Given the description of an element on the screen output the (x, y) to click on. 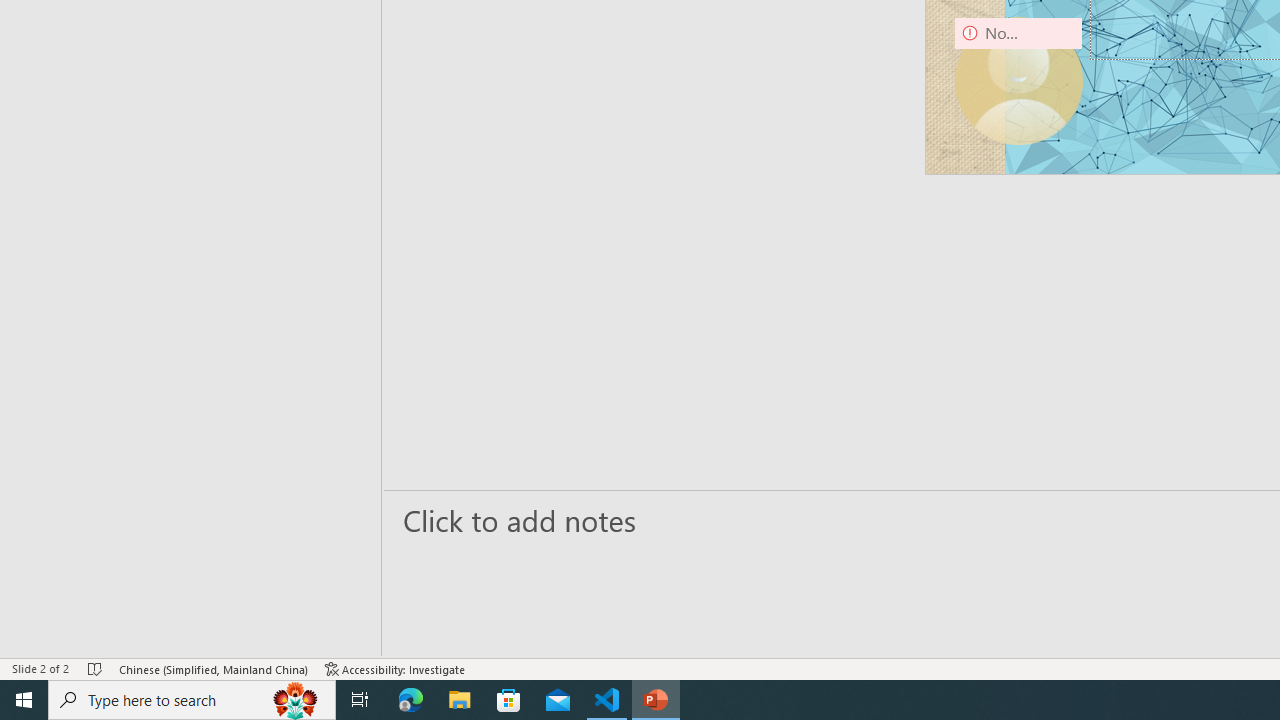
Camera 9, No camera detected. (1018, 80)
